Given the description of an element on the screen output the (x, y) to click on. 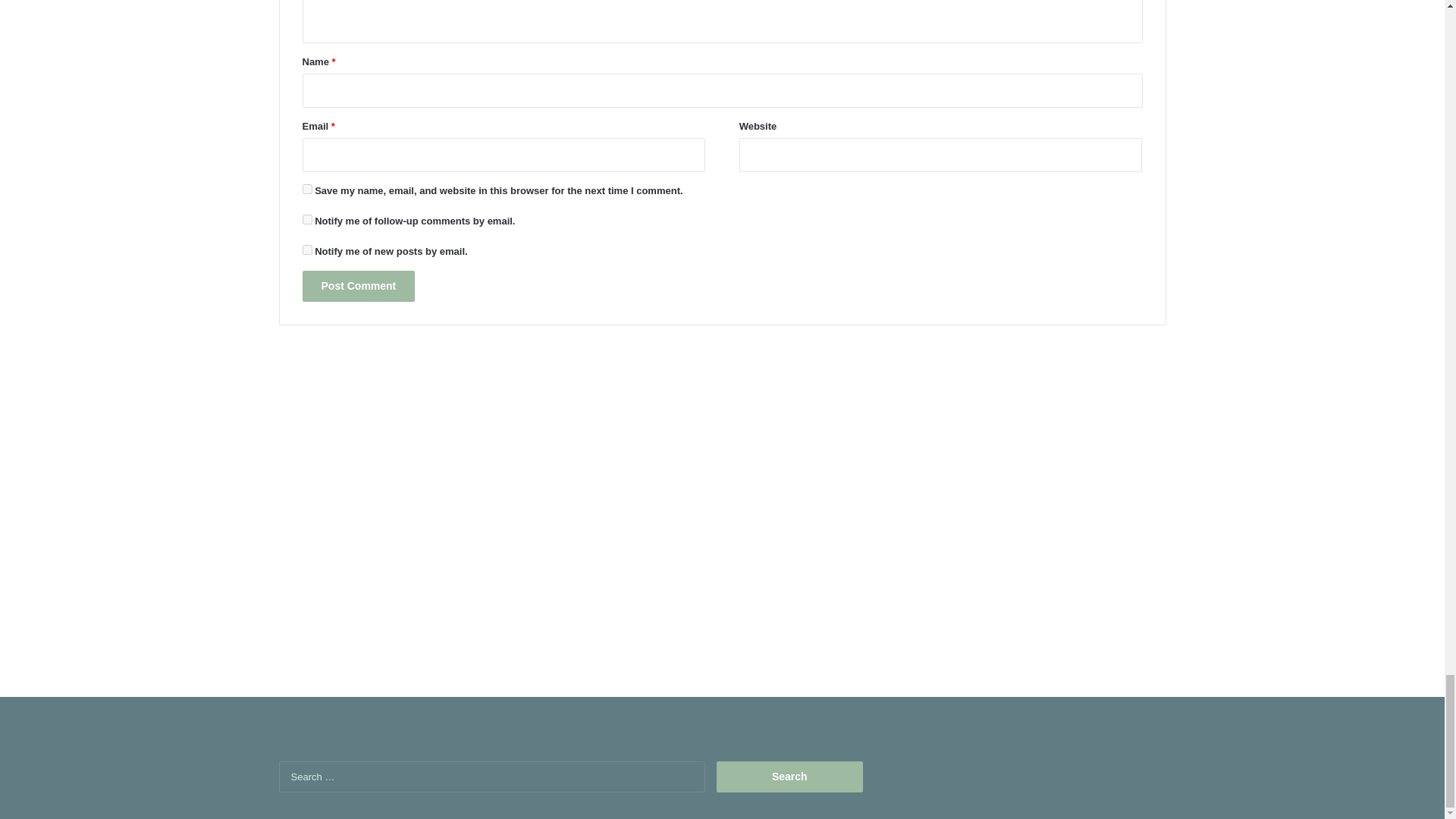
yes (306, 189)
subscribe (306, 219)
Search (789, 776)
Post Comment (357, 286)
subscribe (306, 249)
Search (789, 776)
